Given the description of an element on the screen output the (x, y) to click on. 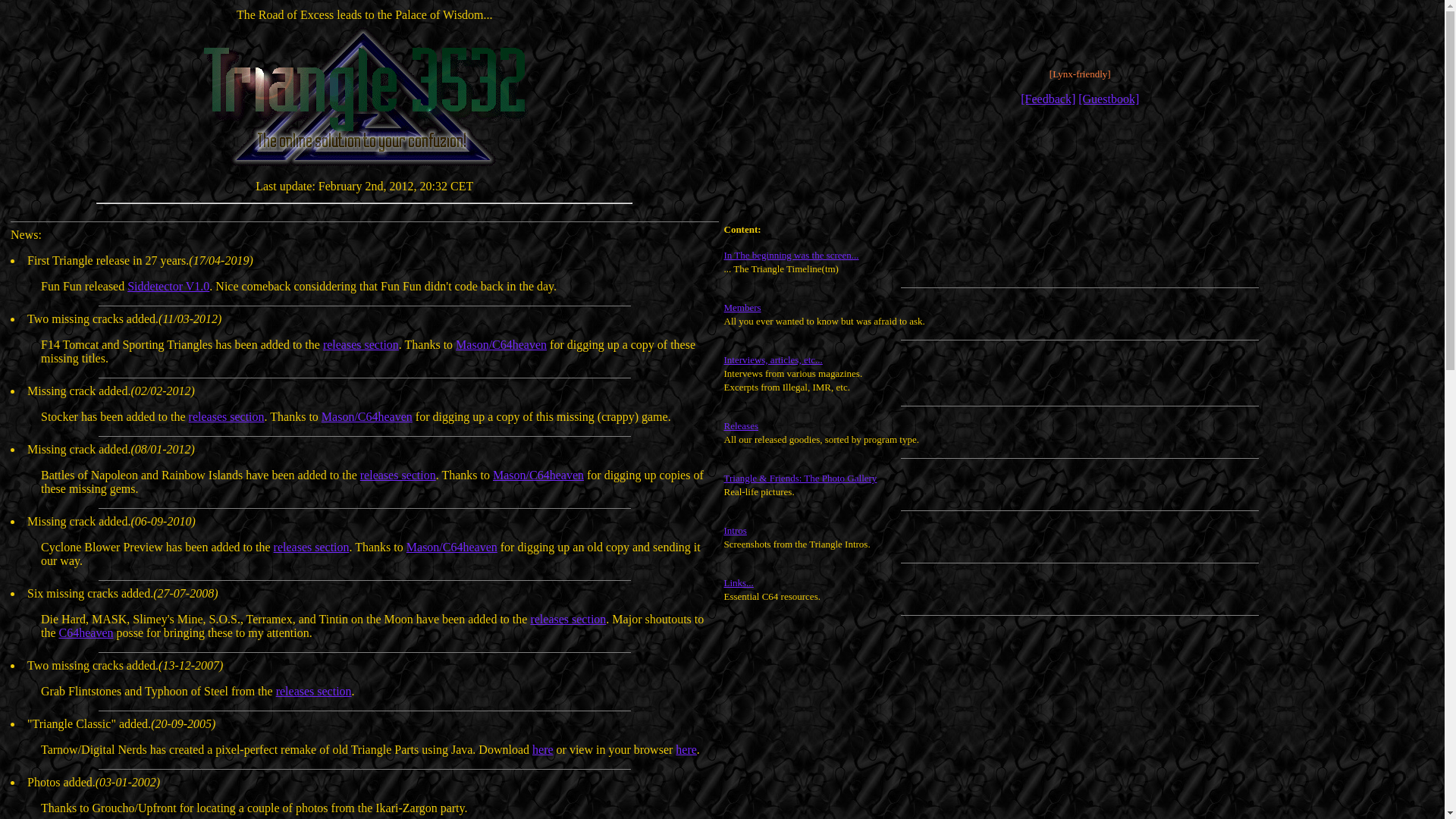
releases section (567, 618)
here (542, 748)
In The beginning was the screen... (791, 254)
C64heaven (86, 632)
releases section (314, 690)
Intros (734, 529)
Links... (737, 581)
here (686, 748)
Releases (740, 424)
releases section (311, 546)
